Given the description of an element on the screen output the (x, y) to click on. 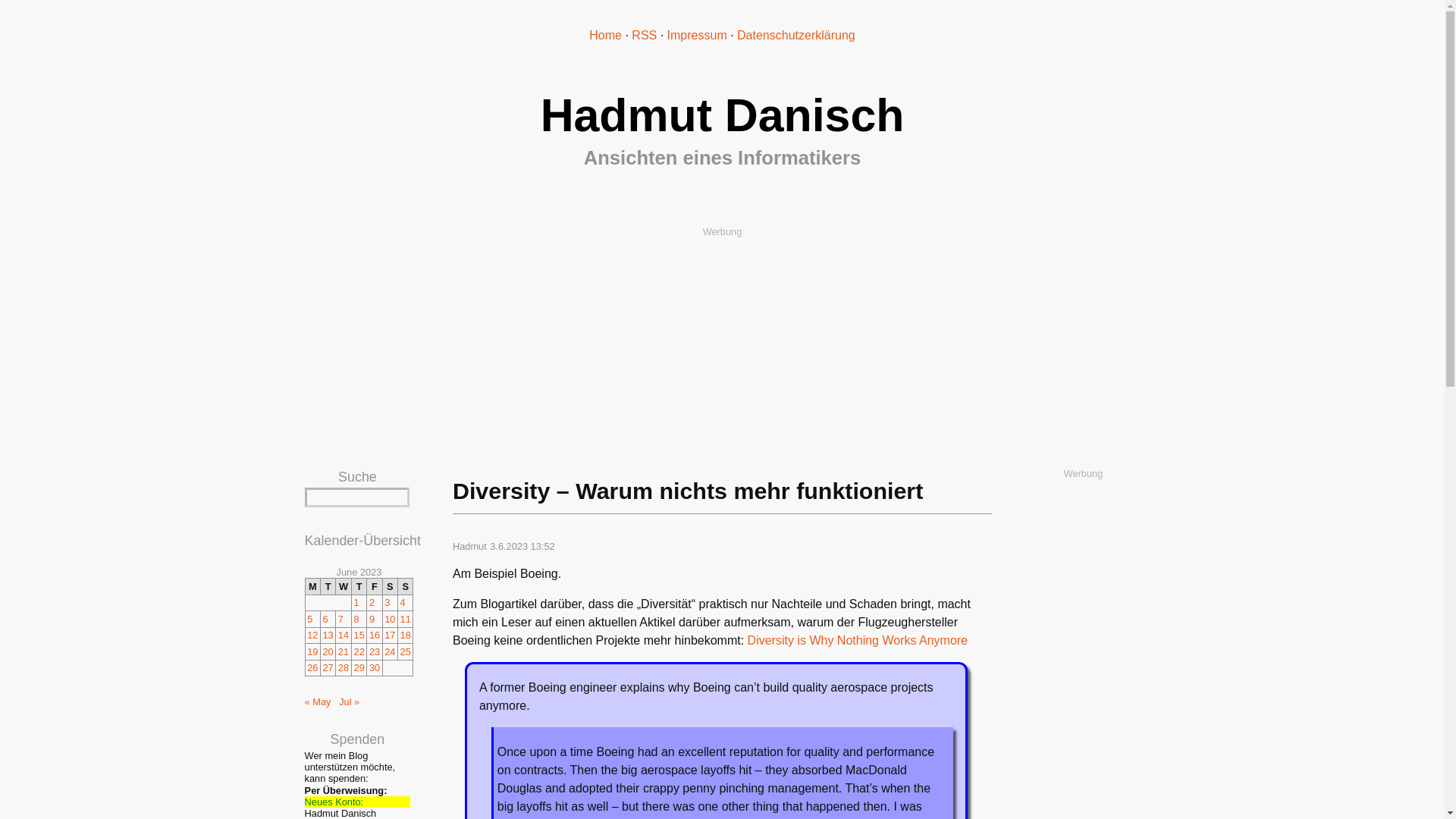
27 (327, 667)
Thursday (359, 586)
13 (327, 634)
26 (312, 667)
16 (374, 634)
Wednesday (344, 586)
14 (343, 634)
25 (405, 651)
Hadmut Danisch (722, 114)
12 (312, 634)
